Given the description of an element on the screen output the (x, y) to click on. 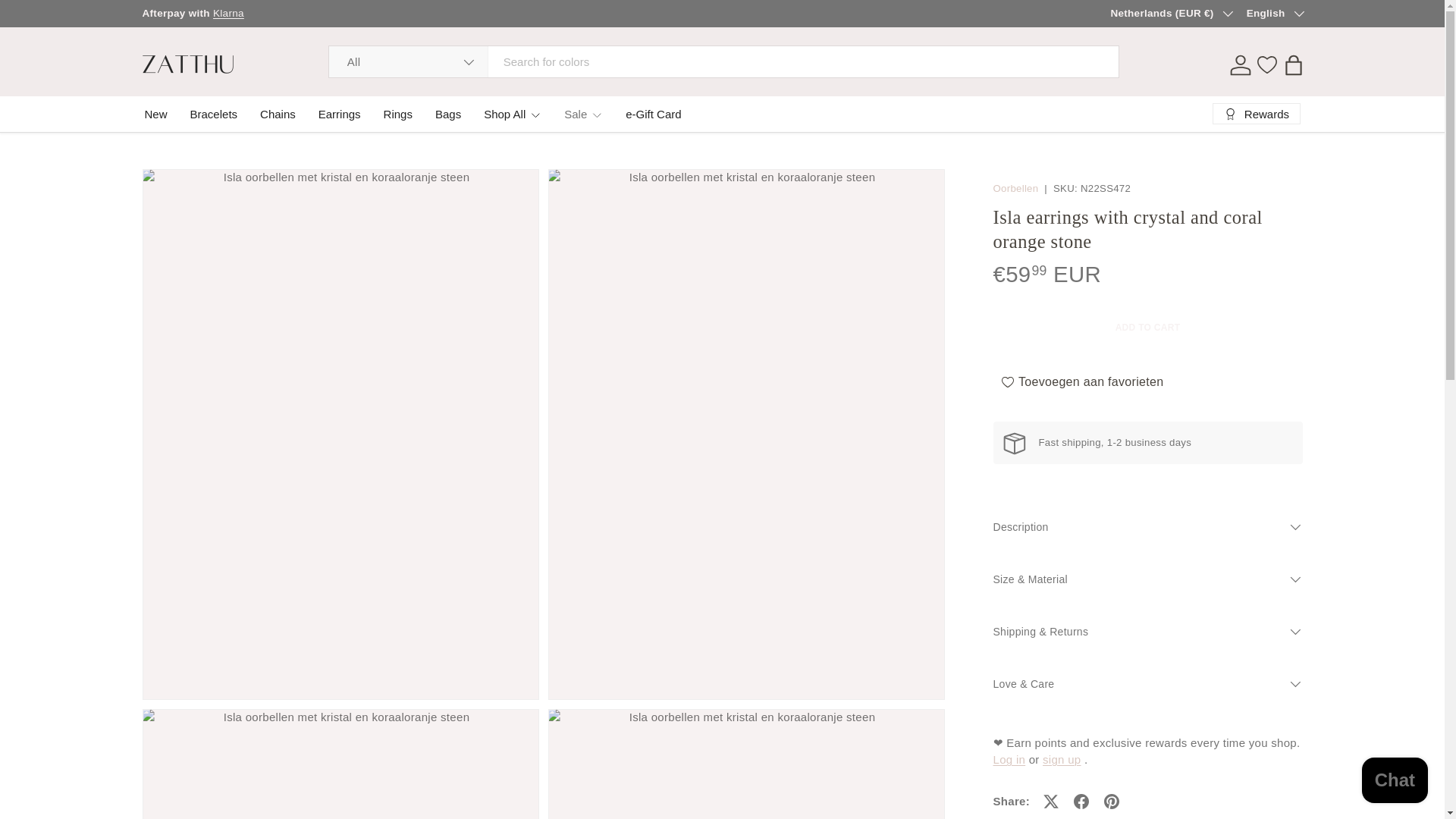
English (1274, 13)
Zatthu Rewards (1061, 758)
Shopify online store chat (1394, 781)
SKIP TO CONTENT (64, 21)
Shop now. Pay later with Klarna (228, 12)
Klarna (228, 12)
Pin on Pinterest (1111, 801)
Chains (277, 114)
Bracelets (214, 114)
Share on Facebook (1080, 801)
